Given the description of an element on the screen output the (x, y) to click on. 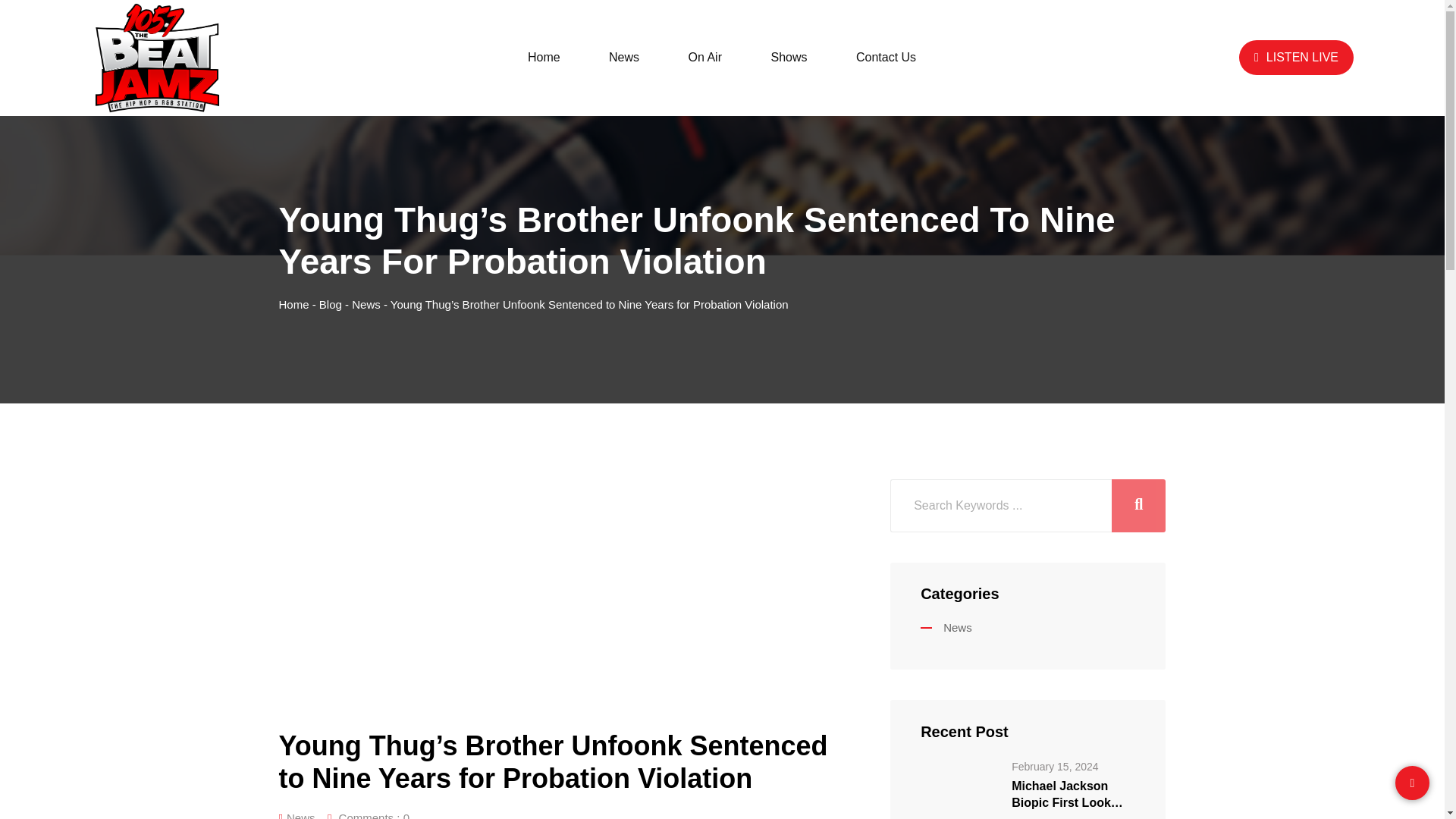
Contact Us (885, 58)
News (946, 626)
Blog (330, 304)
News (300, 812)
LISTEN LIVE (1296, 57)
News (624, 58)
News (366, 304)
Home (544, 58)
Home (293, 304)
